Given the description of an element on the screen output the (x, y) to click on. 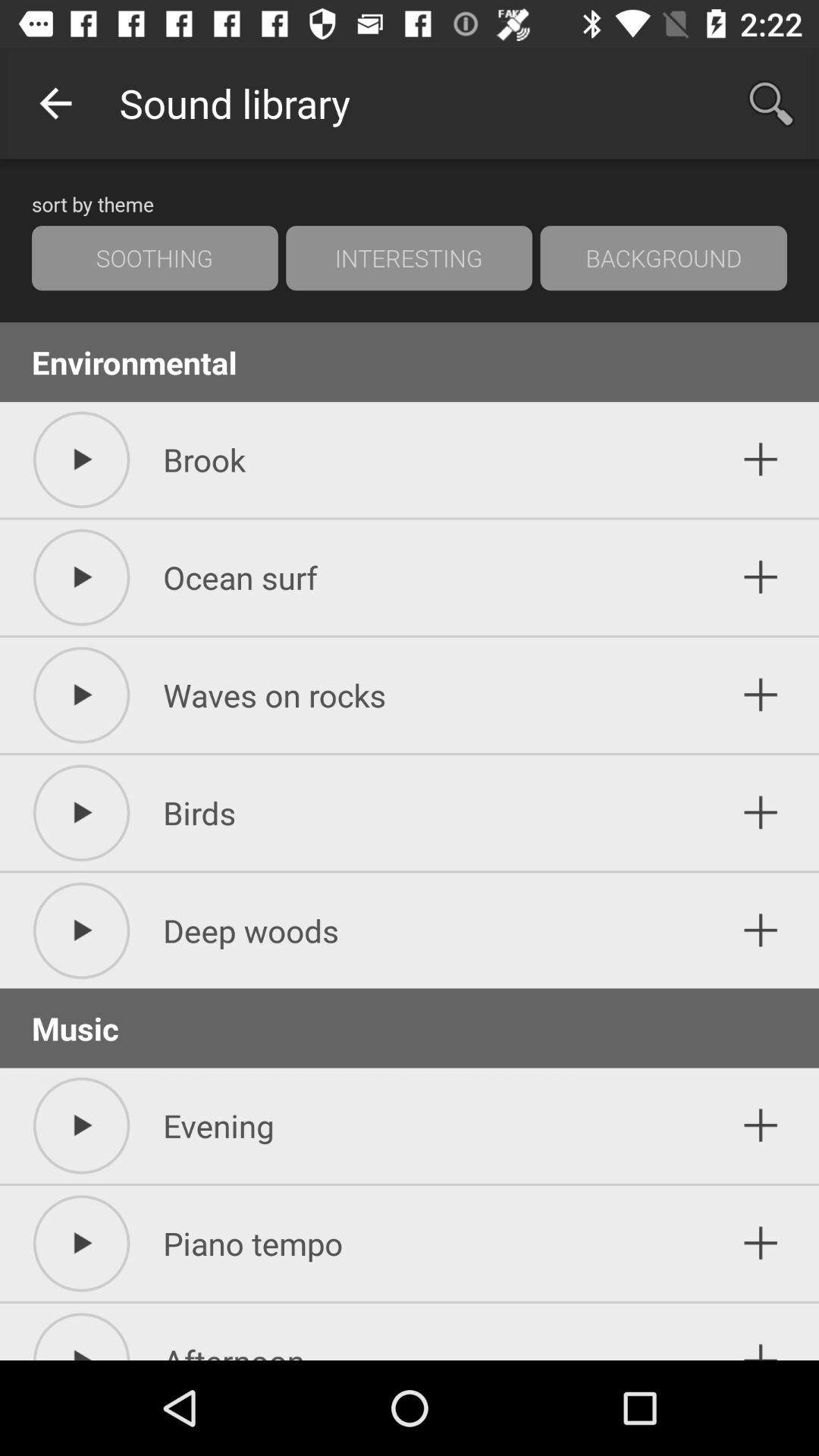
add track option (761, 1243)
